Given the description of an element on the screen output the (x, y) to click on. 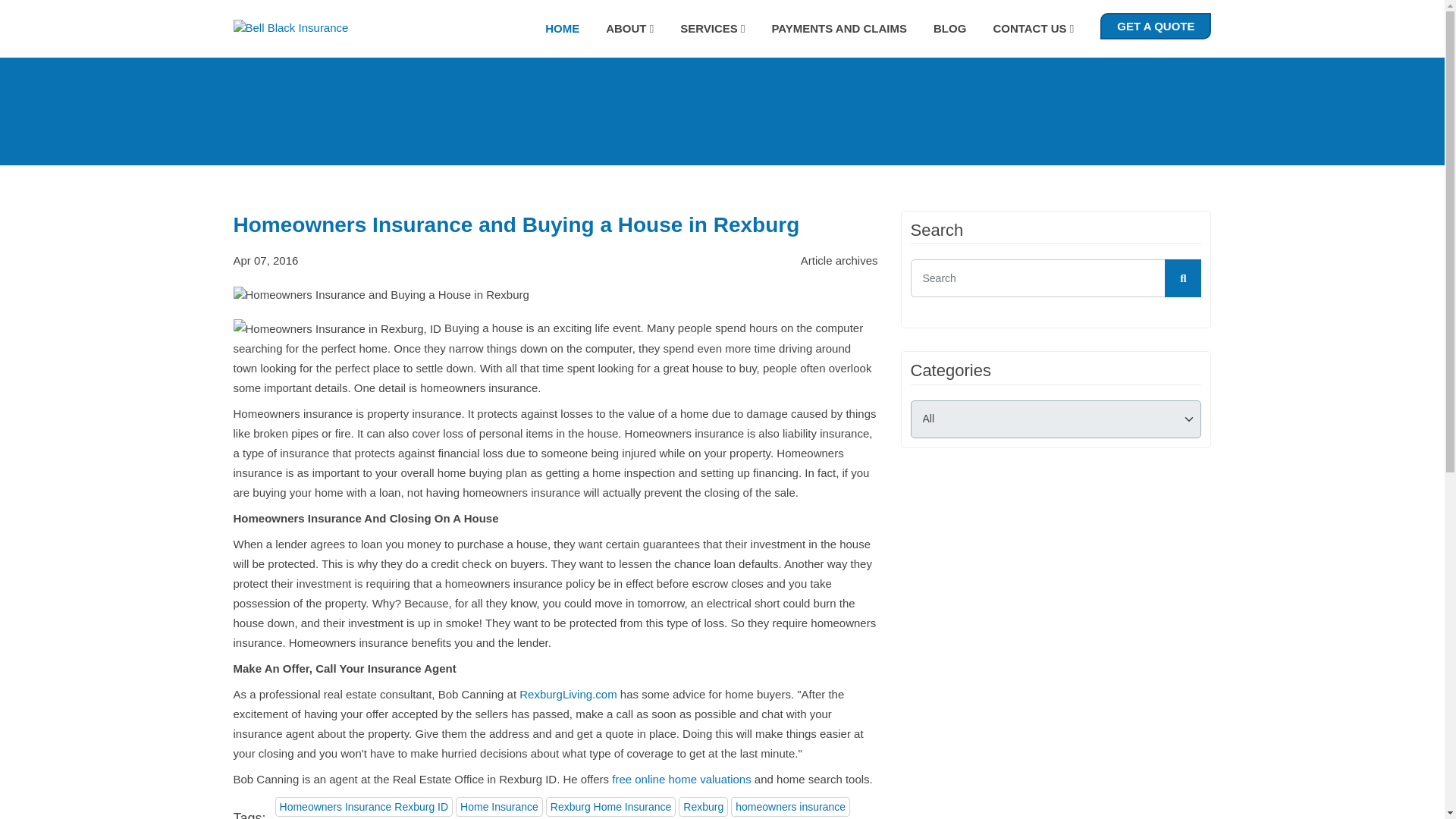
Bell Black Insurance (290, 27)
GET A QUOTE (1155, 26)
See all posts in Homeowners Insurance Rexburg ID (363, 806)
Rexburg (703, 806)
free online home valuations (681, 779)
Blog (949, 28)
About (629, 28)
BLOG (949, 28)
PAYMENTS AND CLAIMS (839, 28)
CONTACT US (1033, 28)
